Given the description of an element on the screen output the (x, y) to click on. 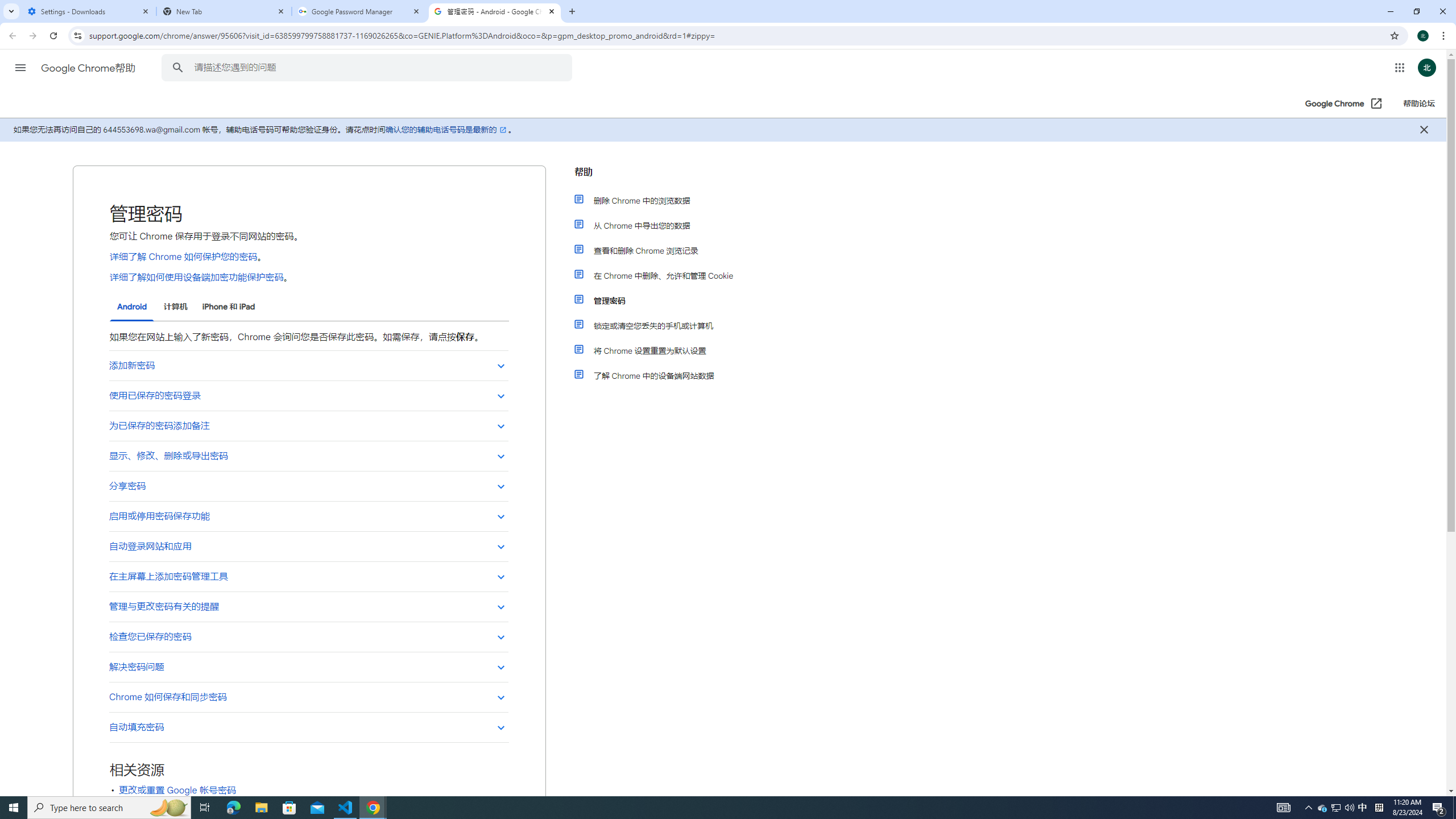
Settings - Downloads (88, 11)
